Given the description of an element on the screen output the (x, y) to click on. 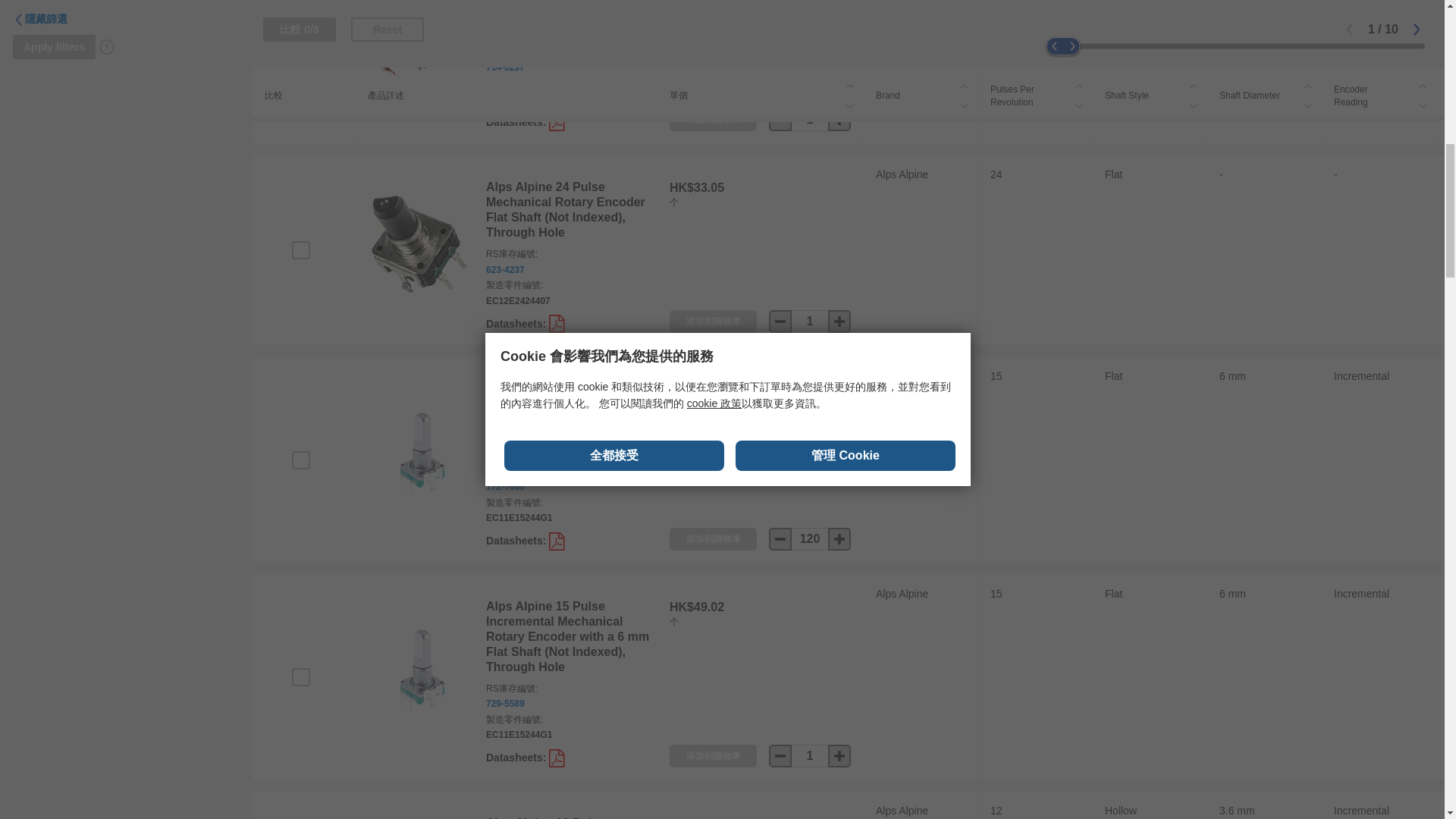
on (299, 55)
on (299, 677)
120 (810, 538)
1 (810, 119)
1 (810, 755)
1 (810, 321)
on (299, 249)
on (299, 460)
